Given the description of an element on the screen output the (x, y) to click on. 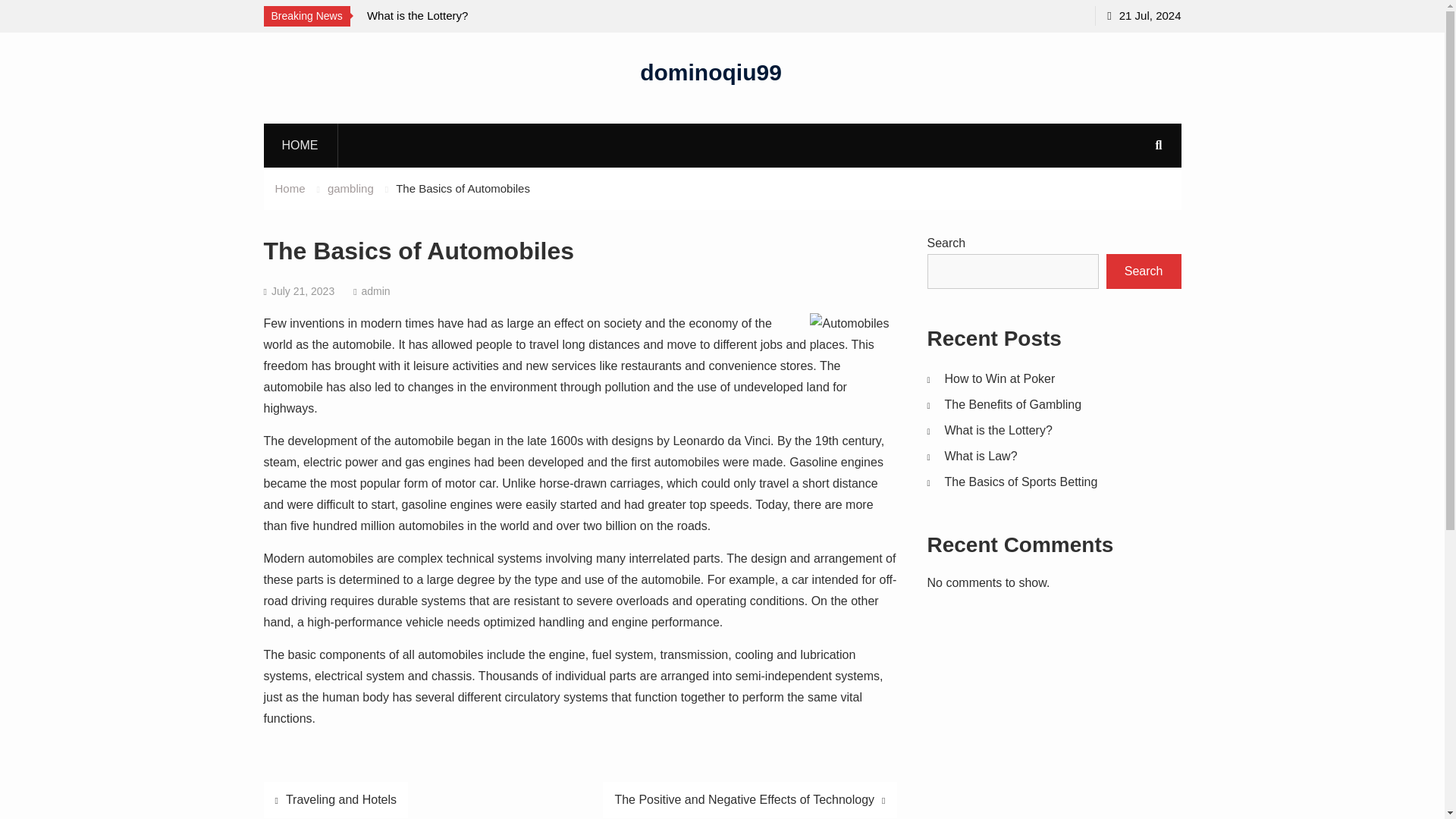
The Basics of Sports Betting (1020, 481)
The Positive and Negative Effects of Technology (749, 800)
dominoqiu99 (710, 71)
July 21, 2023 (302, 291)
Traveling and Hotels (336, 800)
What is the Lottery? (417, 15)
HOME (299, 144)
gambling (350, 187)
Search (1143, 271)
How to Win at Poker (999, 378)
What is the Lottery? (998, 430)
Home (289, 187)
What is Law? (980, 455)
admin (375, 291)
The Benefits of Gambling (1012, 404)
